Given the description of an element on the screen output the (x, y) to click on. 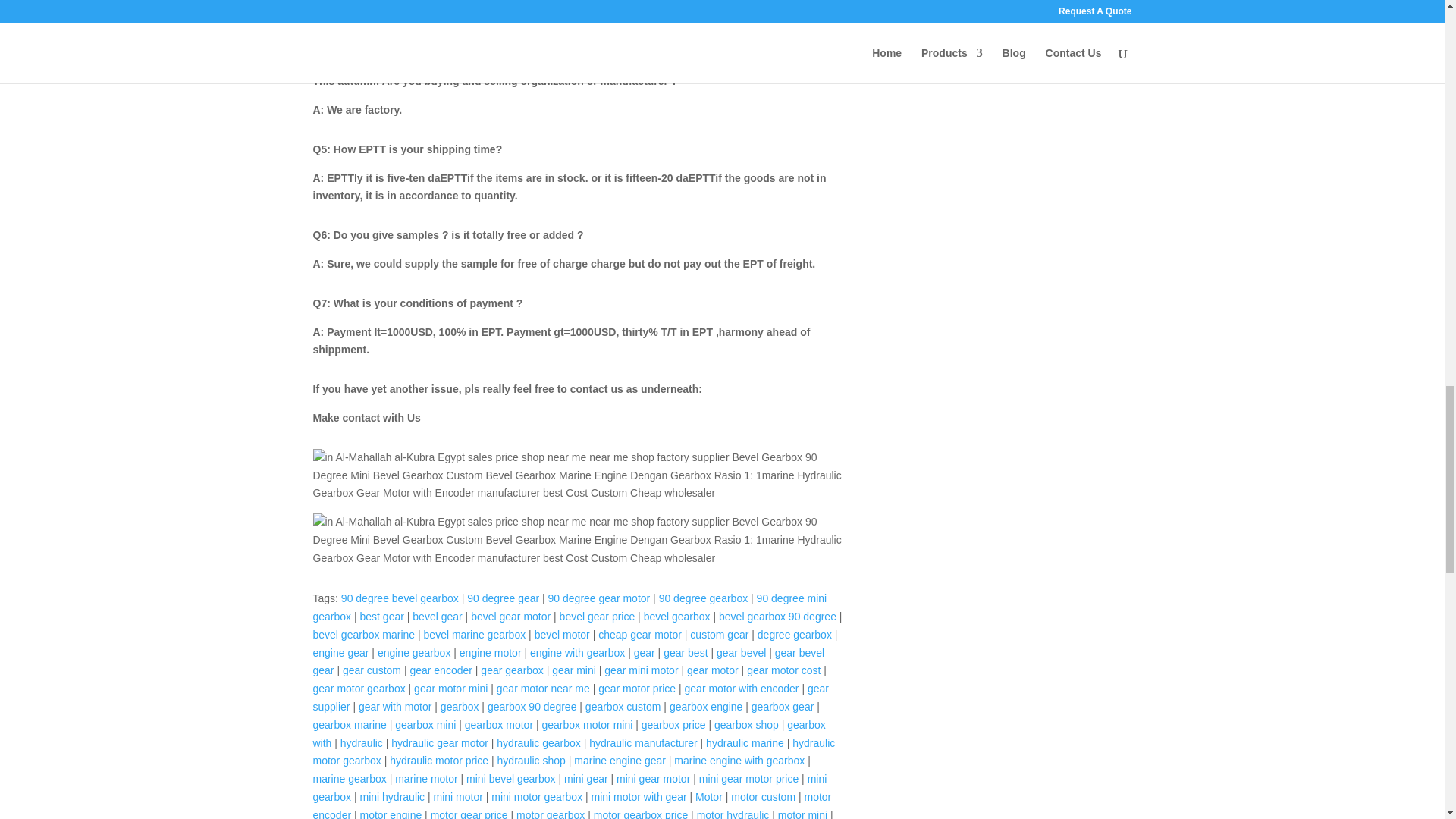
90 degree mini gearbox (570, 607)
bevel gearbox marine (363, 634)
90 degree gearbox (703, 598)
bevel gearbox 90 degree (777, 616)
cheap gear motor (639, 634)
90 degree gear motor (599, 598)
90 degree gear (502, 598)
best gear (381, 616)
custom gear (719, 634)
bevel gear motor (510, 616)
bevel motor (561, 634)
bevel marine gearbox (474, 634)
bevel gear (436, 616)
